Given the description of an element on the screen output the (x, y) to click on. 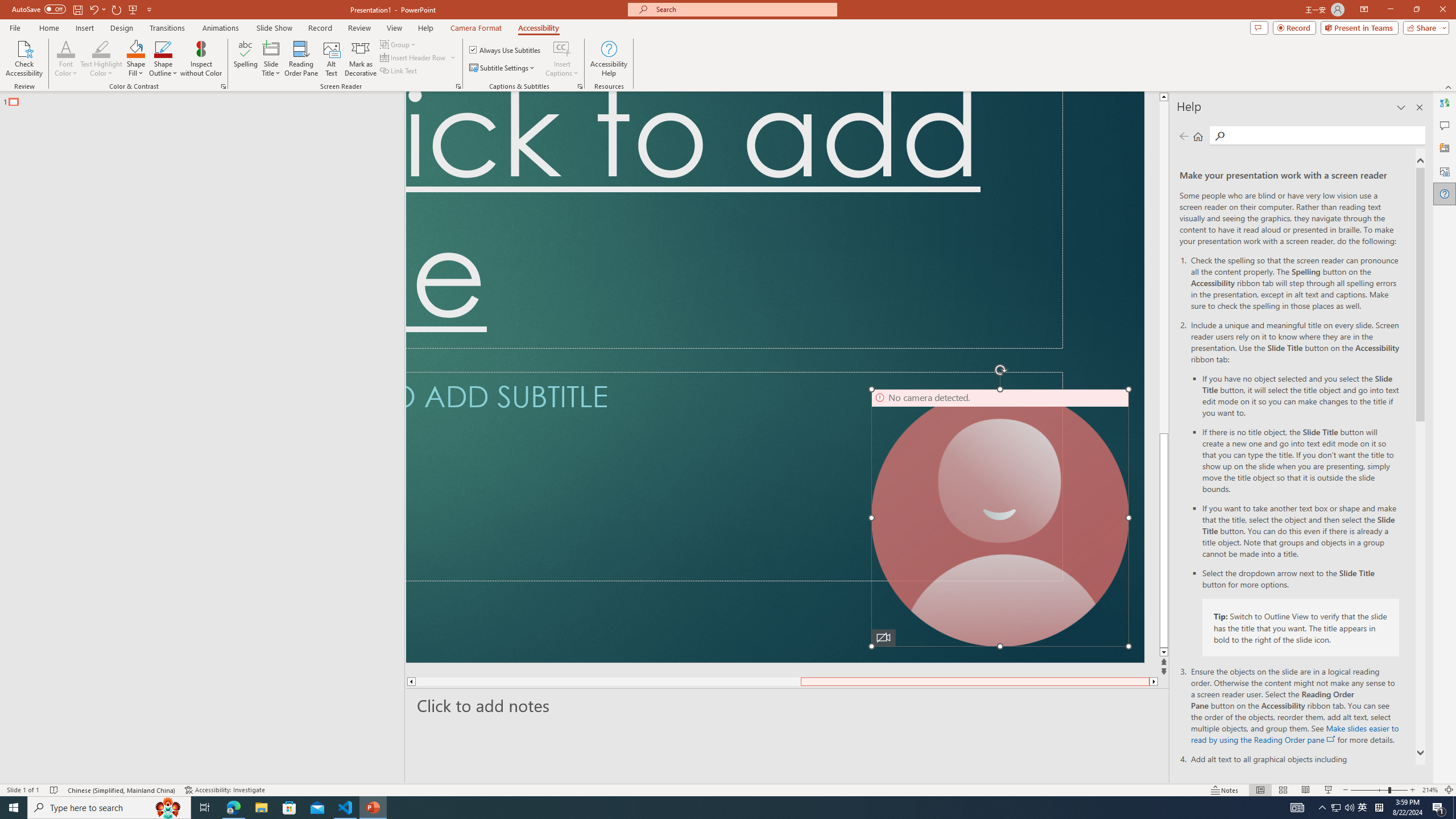
Insert Captions (561, 48)
